Given the description of an element on the screen output the (x, y) to click on. 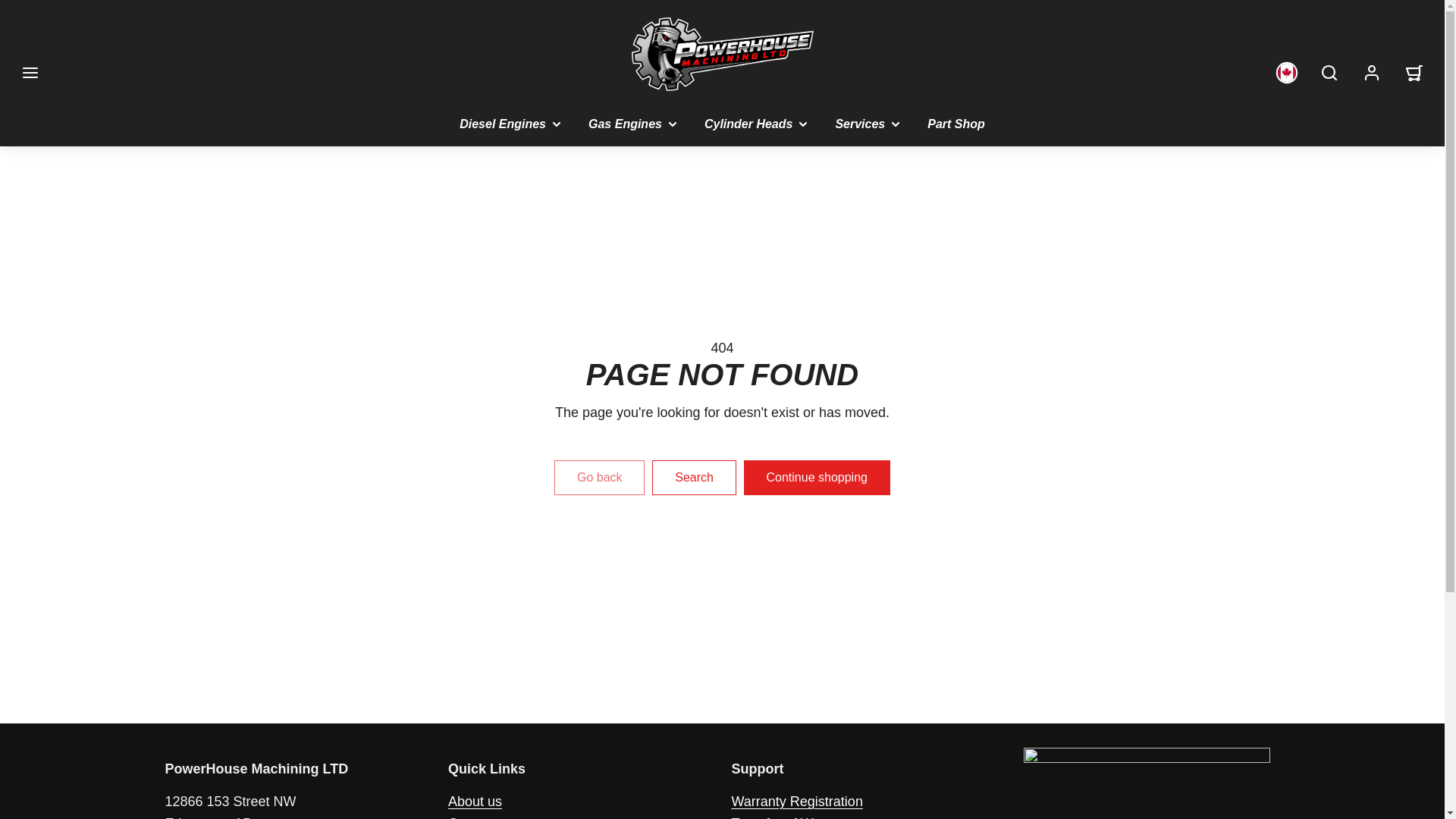
Menu (29, 72)
Gas Engines (633, 124)
Cylinder Heads (757, 124)
Part Shop (956, 124)
Search (1329, 72)
Account (1372, 72)
Services (868, 124)
Diesel Engines (511, 124)
